Given the description of an element on the screen output the (x, y) to click on. 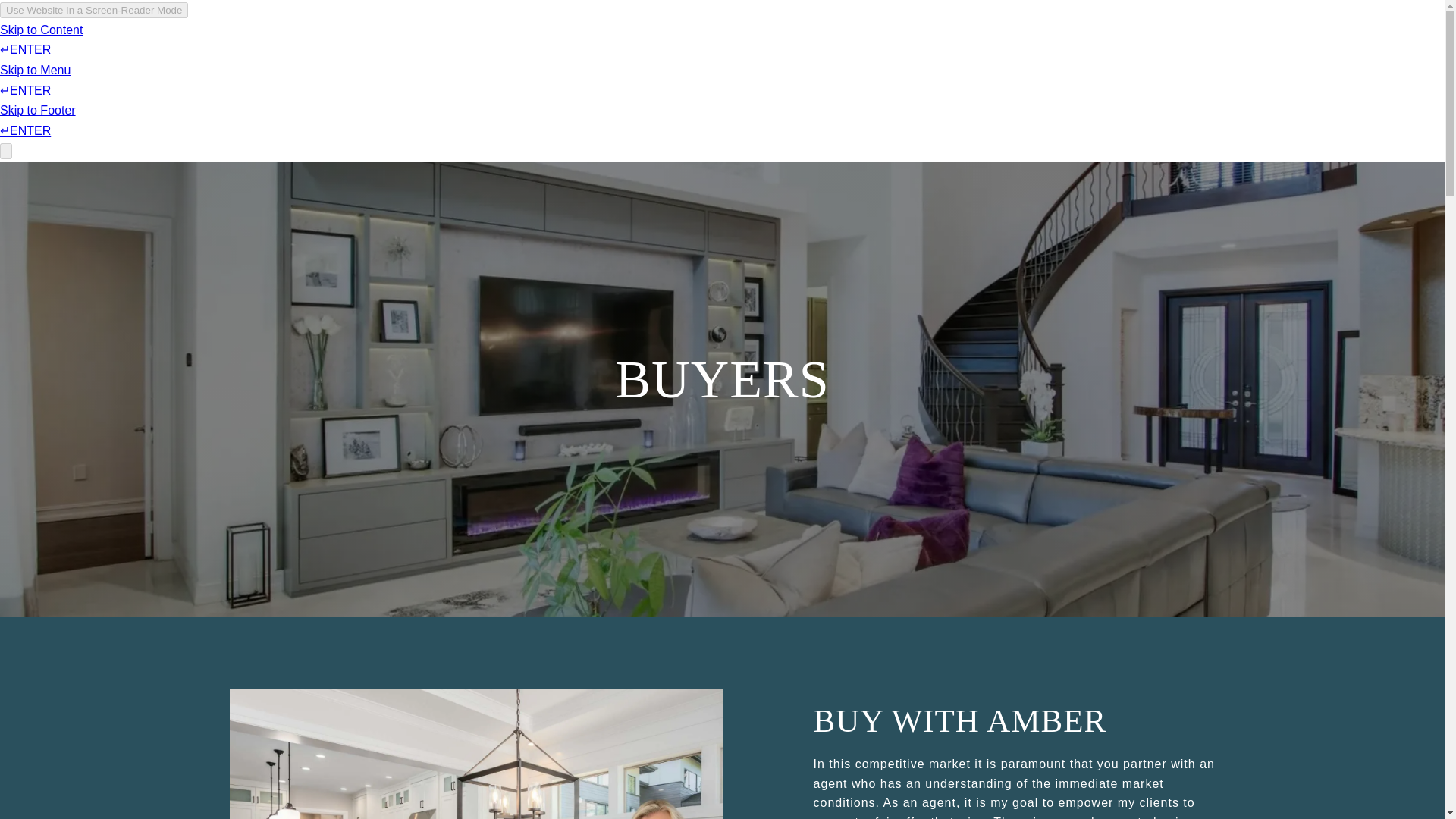
HOME SEARCH (936, 55)
LET'S CONNECT (1046, 55)
PROPERTIES (836, 55)
